Given the description of an element on the screen output the (x, y) to click on. 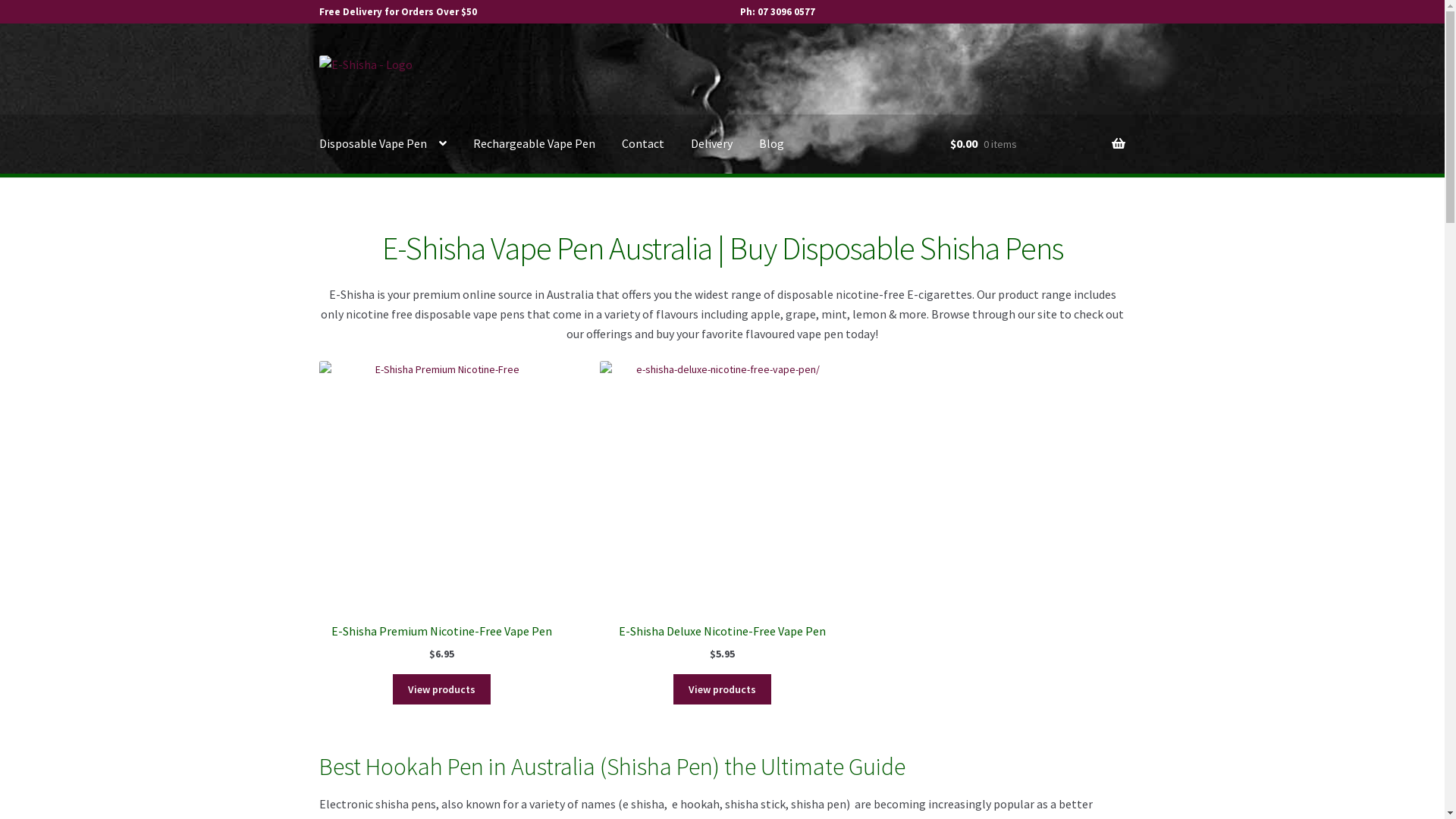
Blog Element type: text (771, 143)
View products Element type: text (722, 689)
$0.00 0 items Element type: text (1037, 143)
Rechargeable Vape Pen Element type: text (534, 143)
E-Shisha Deluxe Nicotine-Free Vape Pen
$5.95 Element type: text (722, 511)
Free Delivery for Orders Over $50 Element type: text (397, 11)
Delivery Element type: text (711, 143)
Search Element type: text (949, 54)
Skip to navigation Element type: text (318, 54)
Contact Element type: text (642, 143)
Disposable Vape Pen Element type: text (382, 143)
E-Shisha Premium Nicotine-Free Vape Pen
$6.95 Element type: text (441, 511)
View products Element type: text (441, 689)
